Given the description of an element on the screen output the (x, y) to click on. 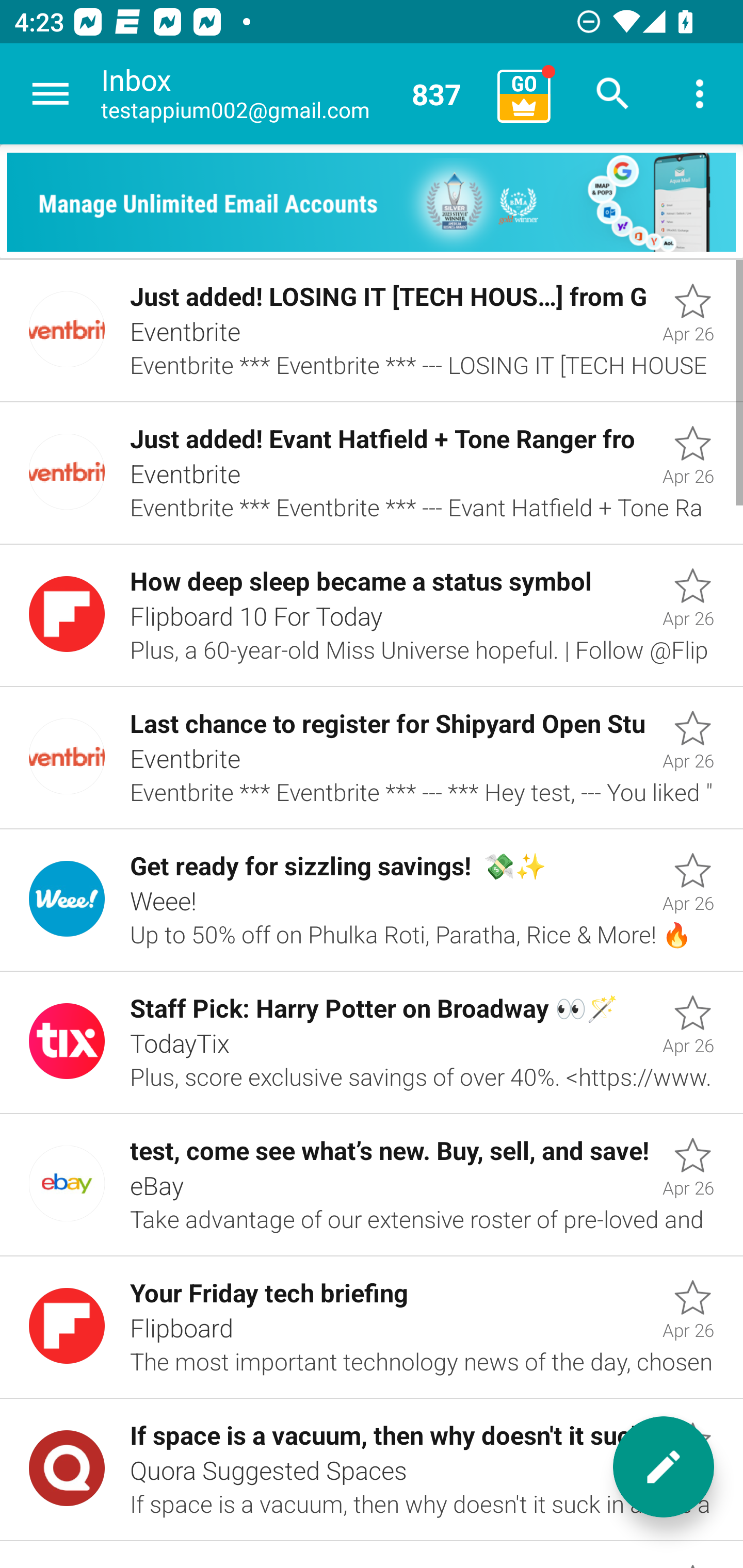
Navigate up (50, 93)
Inbox testappium002@gmail.com 837 (291, 93)
Search (612, 93)
More options (699, 93)
New message (663, 1466)
